Given the description of an element on the screen output the (x, y) to click on. 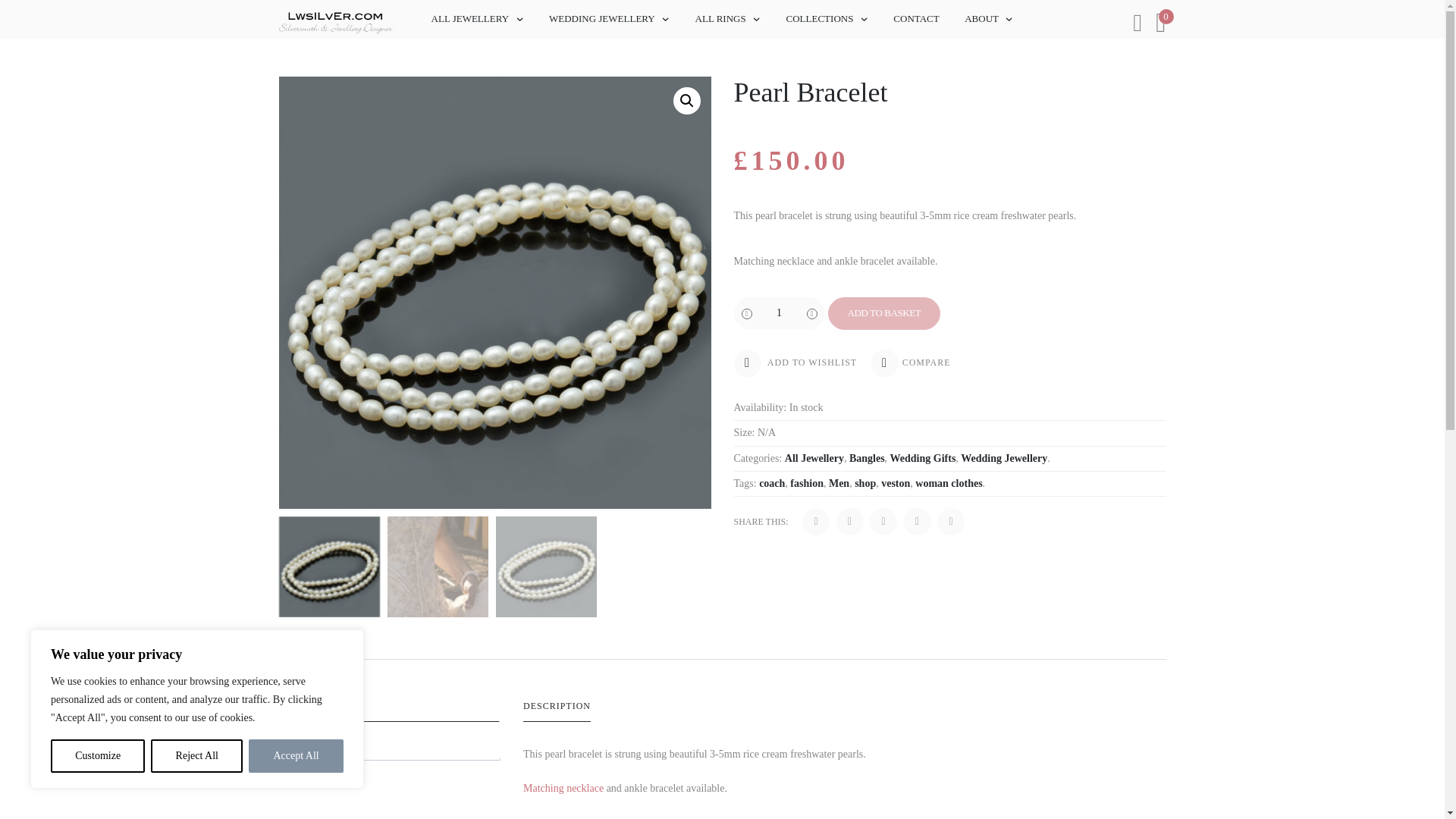
Reject All (197, 756)
ALL JEWELLERY (469, 19)
COLLECTIONS (819, 19)
Pearl Necklace (773, 260)
Pearl Necklace (563, 787)
ALL RINGS (720, 19)
Customize (97, 756)
1 (779, 313)
WEDDING JEWELLERY (601, 19)
